Given the description of an element on the screen output the (x, y) to click on. 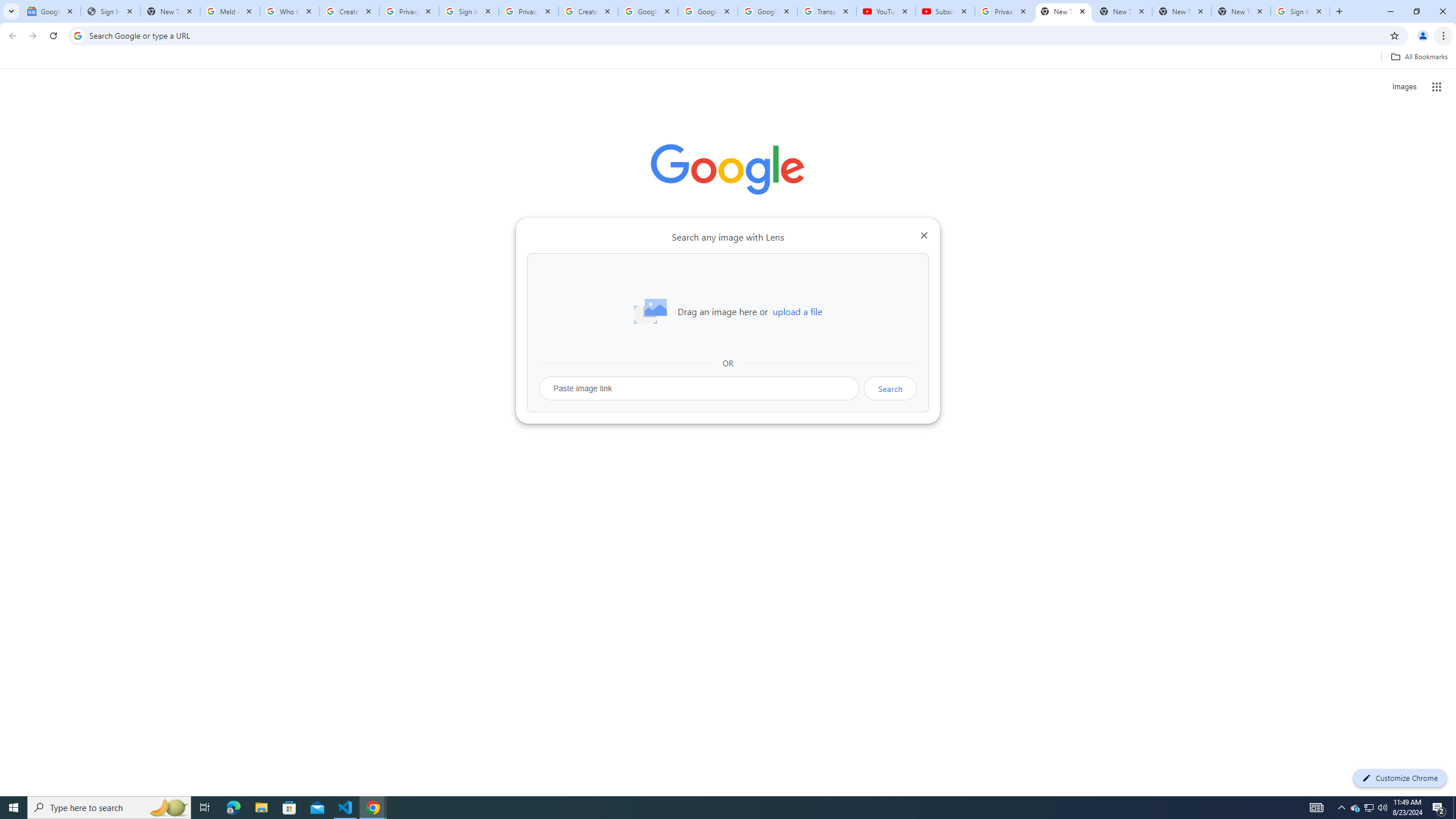
Google Account (767, 11)
